Given the description of an element on the screen output the (x, y) to click on. 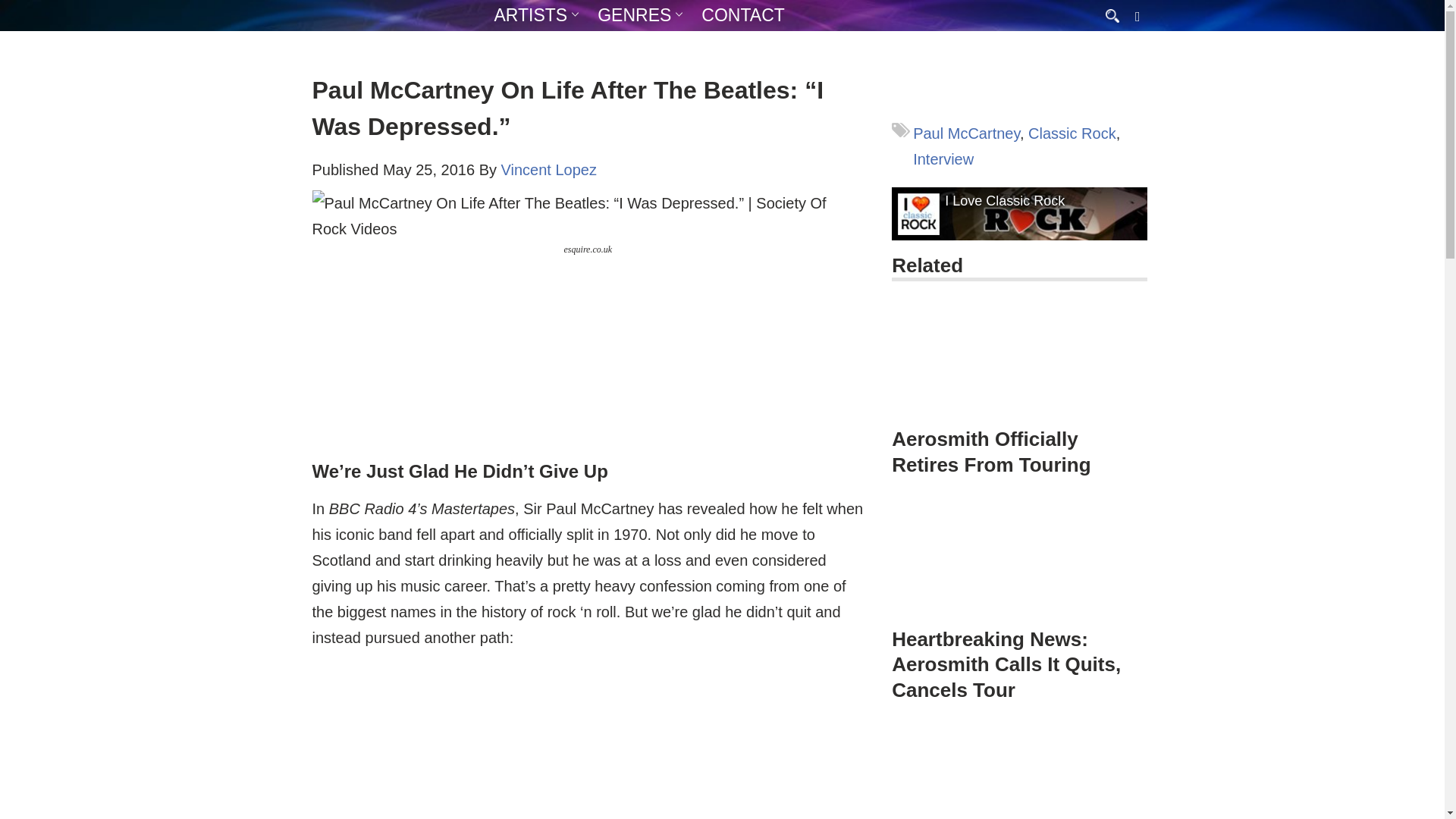
Search (15, 6)
7 Memorable Classic Rock Stage Accidents (1019, 771)
ABOUT (577, 45)
7 Memorable Classic Rock Stage Accidents (1019, 771)
Aerosmith Officially Retires From Touring (990, 451)
Aerosmith Officially Retires From Touring (1019, 359)
Heartbreaking News: Aerosmith Calls It Quits, Cancels Tour (1006, 664)
Heartbreaking News: Aerosmith Calls It Quits, Cancels Tour (1019, 559)
I Love Classic Rock (1004, 201)
ARTISTS (531, 15)
